Given the description of an element on the screen output the (x, y) to click on. 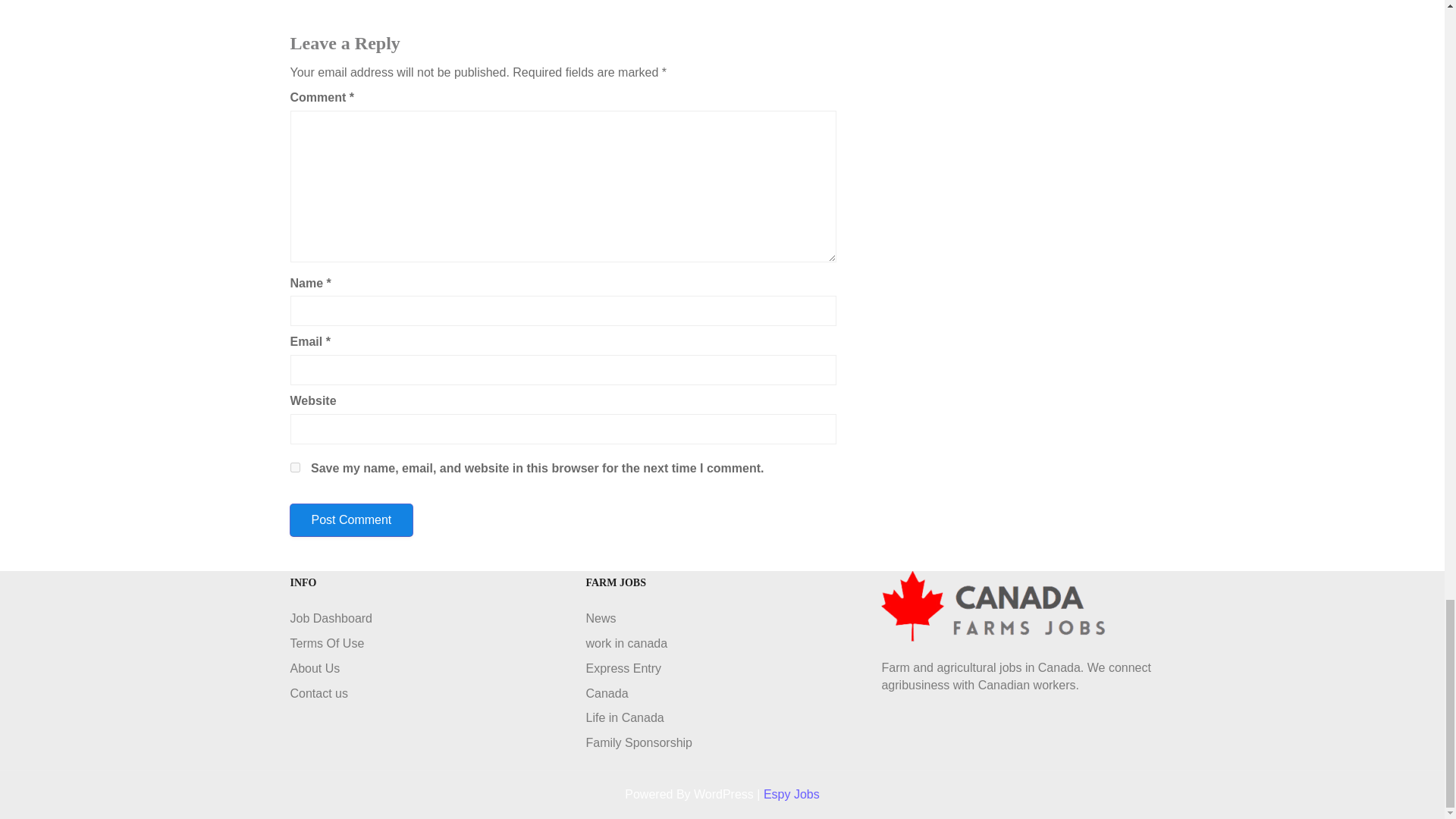
yes (294, 467)
Post Comment (350, 520)
Post Comment (350, 520)
